Given the description of an element on the screen output the (x, y) to click on. 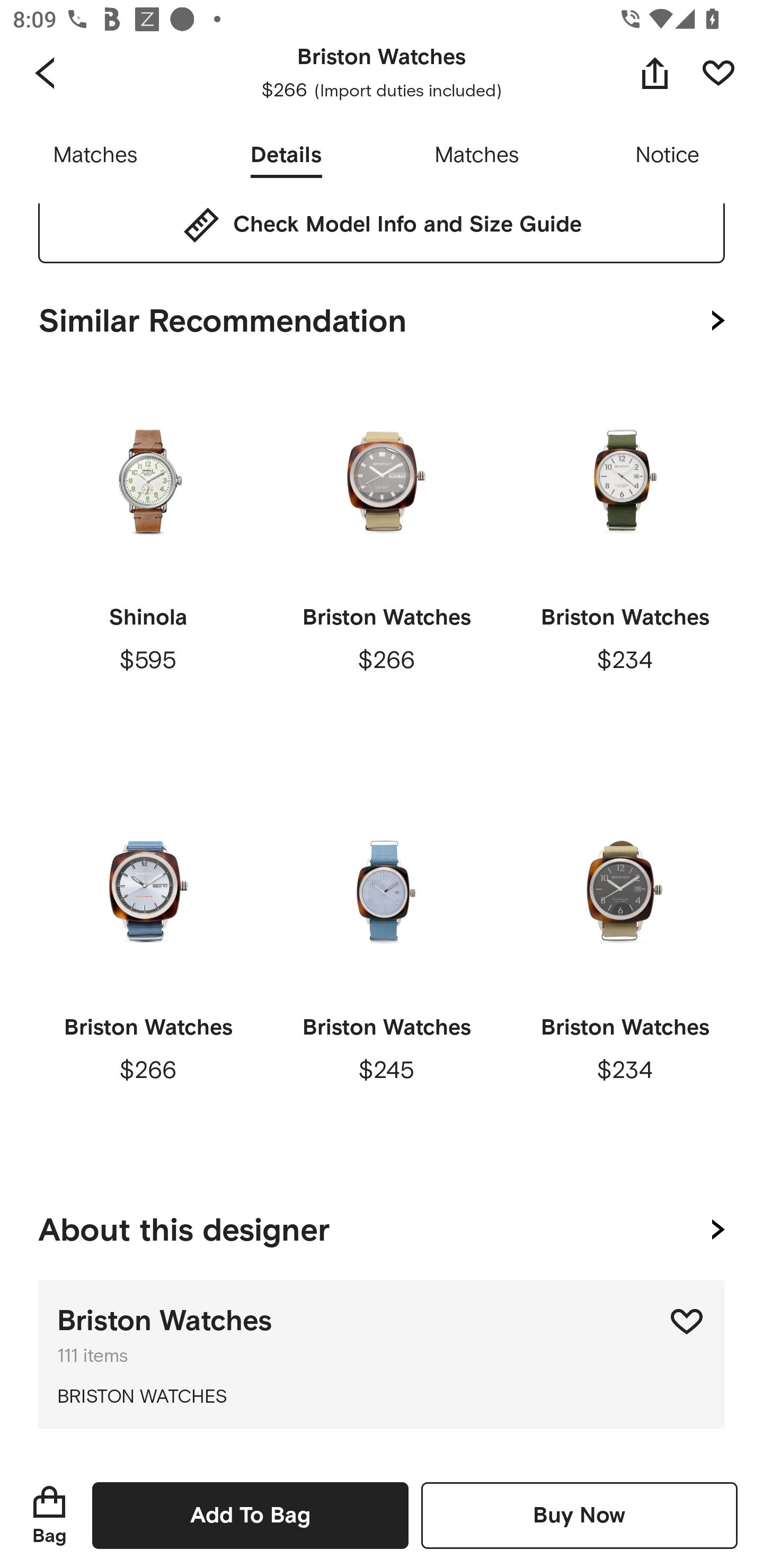
Matches (95, 155)
Matches (476, 155)
Notice (667, 155)
 Check Model Info and Size Guide (381, 224)
Similar Recommendation (381, 317)
Shinola $595 (147, 566)
Briston Watches $266 (385, 566)
Briston Watches $234 (624, 566)
Briston Watches $266 (147, 976)
Briston Watches $245 (385, 976)
Briston Watches $234 (624, 976)
About this designer (381, 1226)
Briston Watches 111 items BRISTON WATCHES (381, 1354)
BRISTON WATCHES (381, 1396)
Bag (49, 1515)
Add To Bag (250, 1515)
Buy Now (579, 1515)
